Given the description of an element on the screen output the (x, y) to click on. 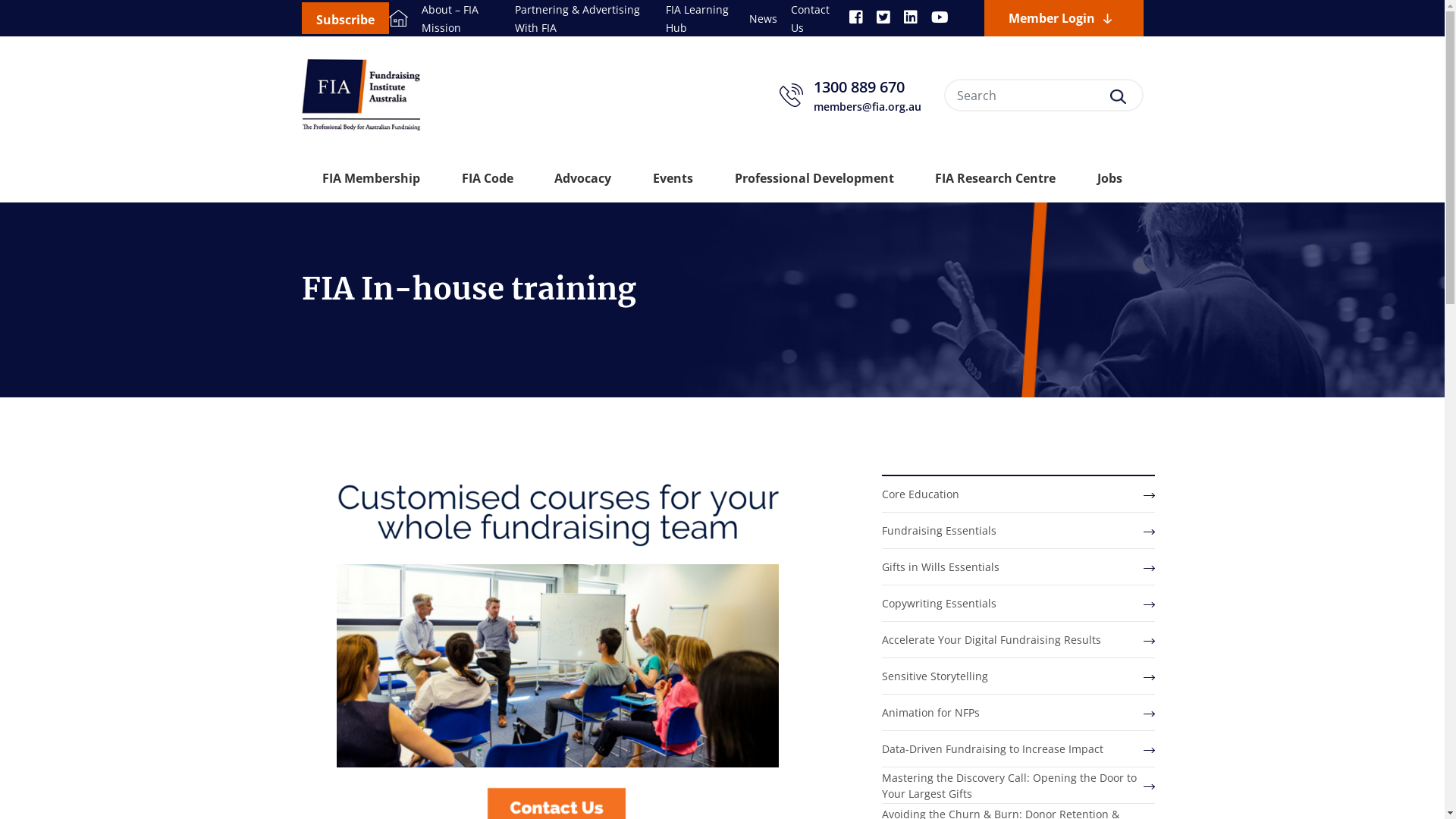
Accelerate Your Digital Fundraising Results Element type: text (1017, 639)
Advocacy Element type: text (582, 177)
Subscribe Element type: text (345, 18)
FIA Research Centre Element type: text (994, 177)
Partnering & Advertising With FIA Element type: text (577, 18)
Contact Us Element type: text (809, 18)
Core Education Element type: text (1017, 494)
FIA Learning Hub Element type: text (696, 18)
Member Login Element type: text (1063, 18)
FIA Code Element type: text (487, 177)
Data-Driven Fundraising to Increase Impact Element type: text (1017, 749)
Jobs Element type: text (1109, 177)
News Element type: text (763, 18)
FIA Membership Element type: text (371, 177)
Professional Development Element type: text (814, 177)
Fundraising Essentials Element type: text (1017, 530)
Events Element type: text (672, 177)
Animation for NFPs Element type: text (1017, 712)
Sensitive Storytelling Element type: text (1017, 676)
Copywriting Essentials Element type: text (1017, 603)
members@fia.org.au Element type: text (866, 106)
Gifts in Wills Essentials Element type: text (1017, 567)
Home Element type: text (397, 17)
1300 889 670 Element type: text (866, 86)
